Given the description of an element on the screen output the (x, y) to click on. 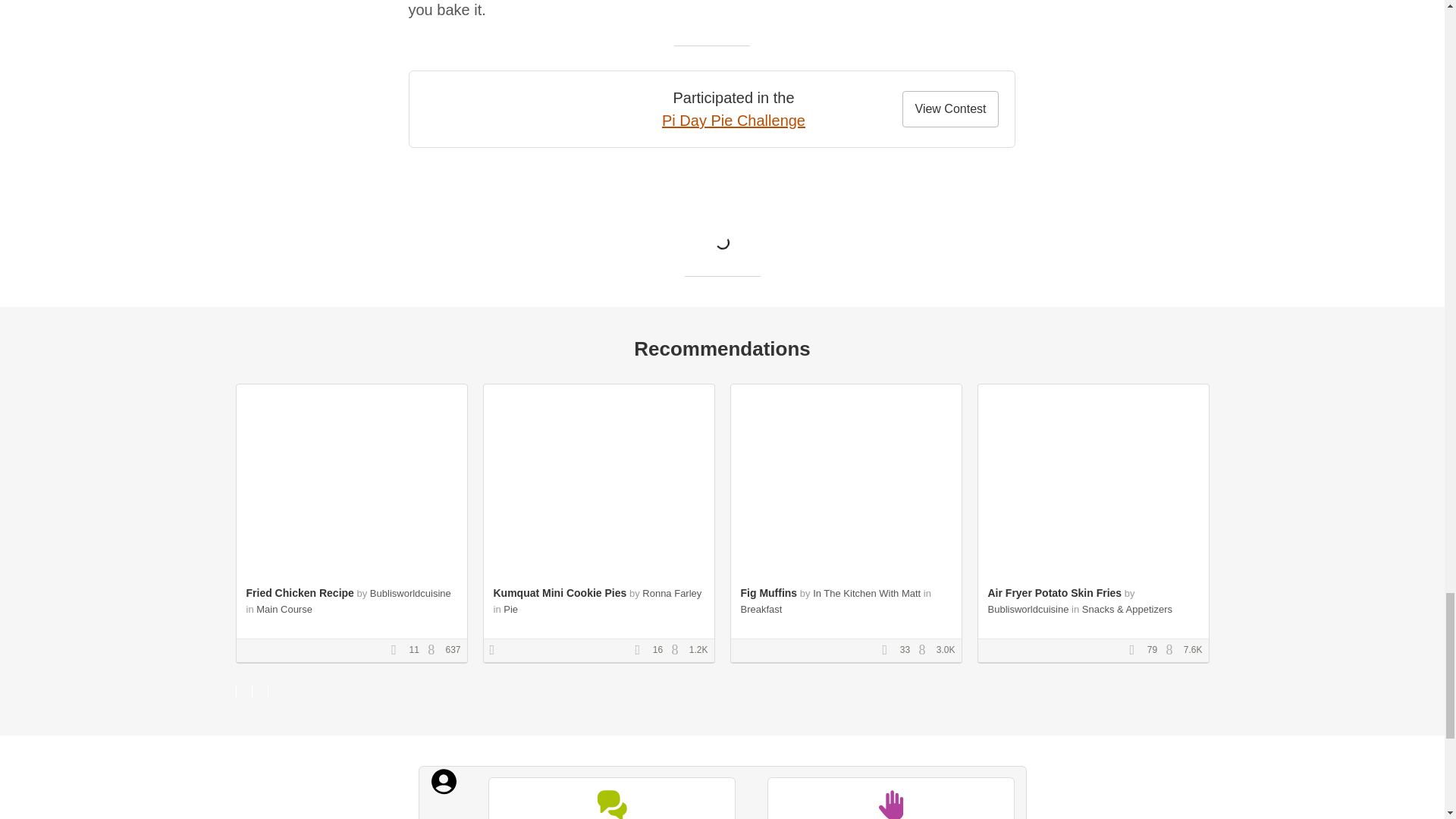
Breakfast (760, 609)
Air Fryer Potato Skin Fries (1054, 592)
I Made It (890, 798)
Bublisworldcuisine (1027, 609)
View Contest (950, 108)
Favorites Count (1136, 650)
Main Course (284, 609)
Bublisworldcuisine (410, 593)
Pi Day Pie Challenge (733, 120)
Favorites Count (398, 650)
Pie (510, 609)
Fig Muffins (767, 592)
Views Count (678, 650)
Favorites Count (641, 650)
Contest Winner (497, 650)
